Given the description of an element on the screen output the (x, y) to click on. 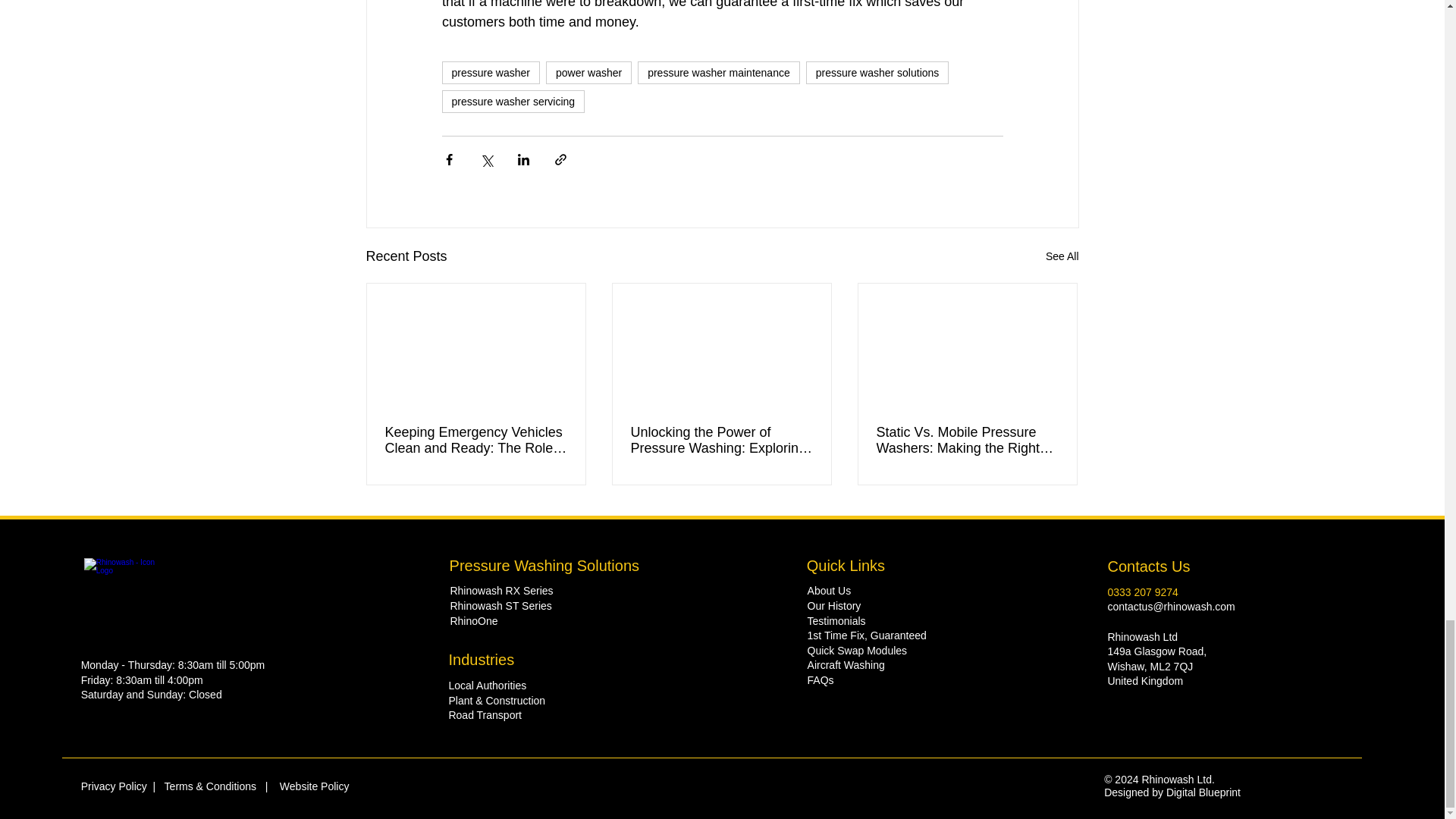
power washer (588, 72)
pressure washer maintenance (718, 72)
pressure washer (490, 72)
pressure washer servicing (513, 101)
See All (1061, 256)
Digital Blueprint (1203, 792)
Static Vs. Mobile Pressure Washers: Making the Right Choice (967, 440)
pressure washer solutions (877, 72)
